Given the description of an element on the screen output the (x, y) to click on. 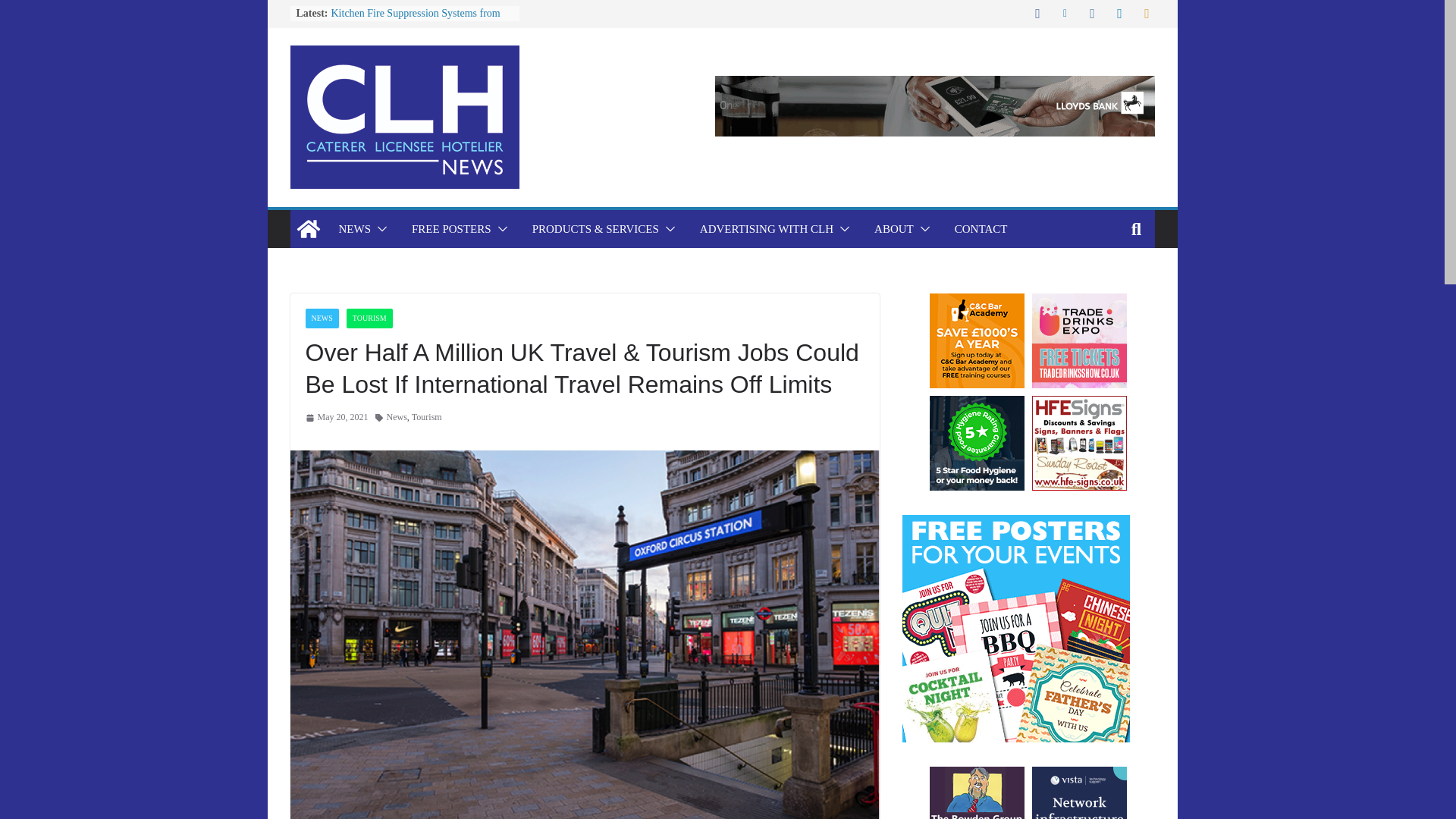
11:33 am (336, 417)
Kitchen Fire Suppression Systems from Trinity (414, 20)
NEWS (354, 228)
Kitchen Fire Suppression Systems from Trinity (414, 20)
CLH News: Caterer, Licensee and Hotelier News (307, 228)
FREE POSTERS (452, 228)
